Given the description of an element on the screen output the (x, y) to click on. 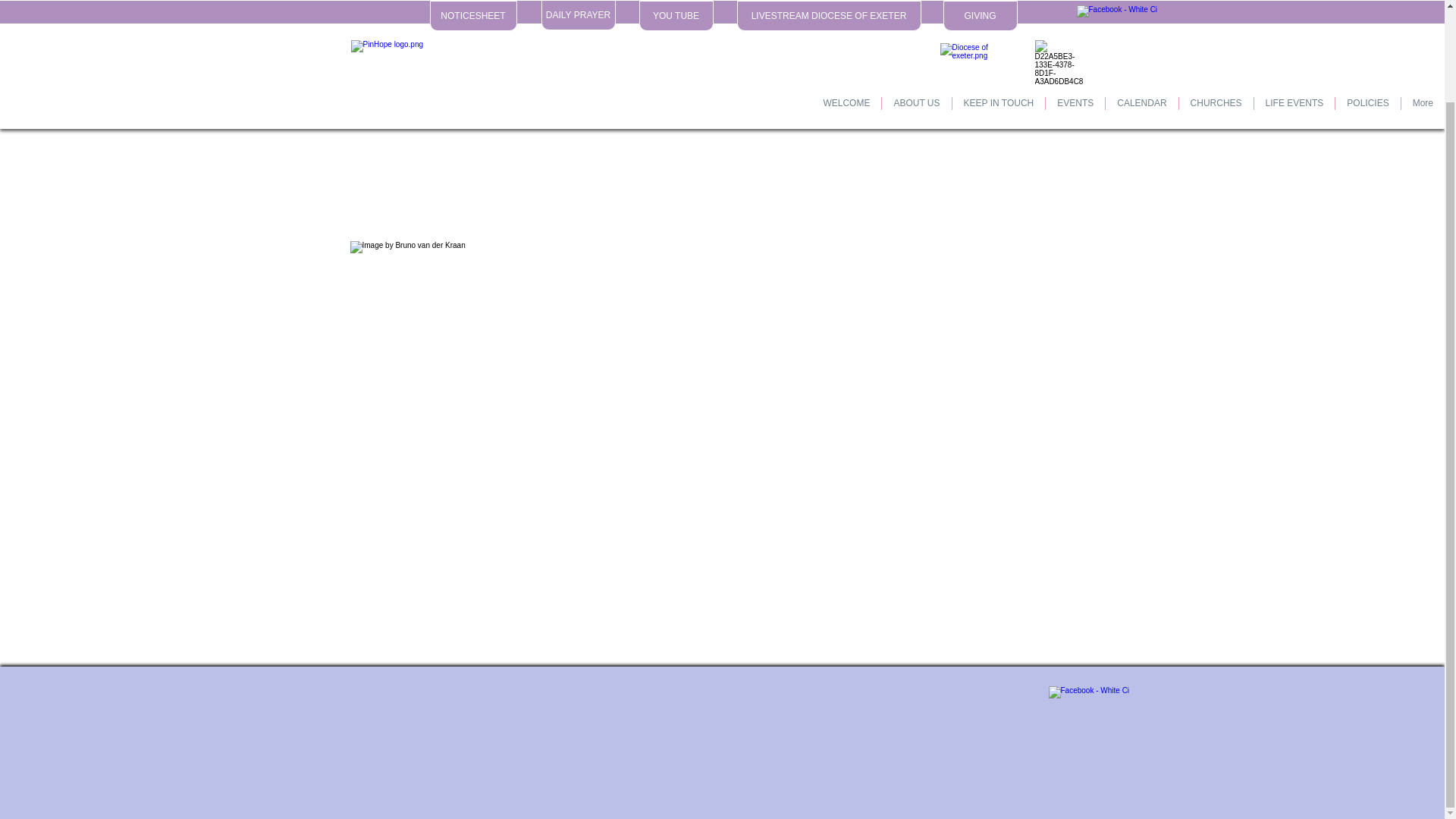
WELCOME (845, 11)
EVENTS (1075, 11)
CALENDAR (1141, 11)
